Given the description of an element on the screen output the (x, y) to click on. 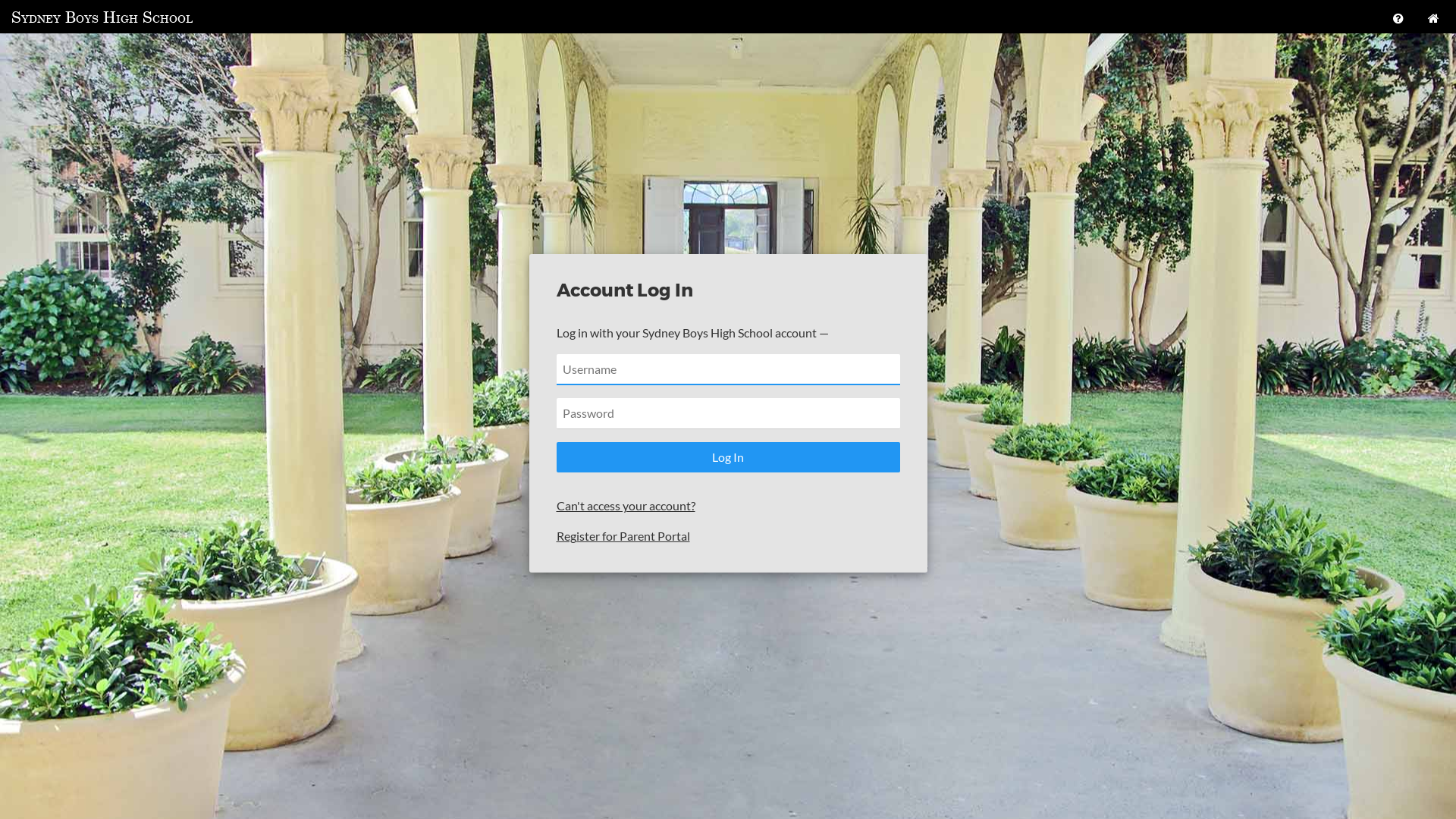
Log In Element type: text (728, 457)
Can't access your account? Element type: text (625, 505)
Register for Parent Portal Element type: text (623, 535)
